Given the description of an element on the screen output the (x, y) to click on. 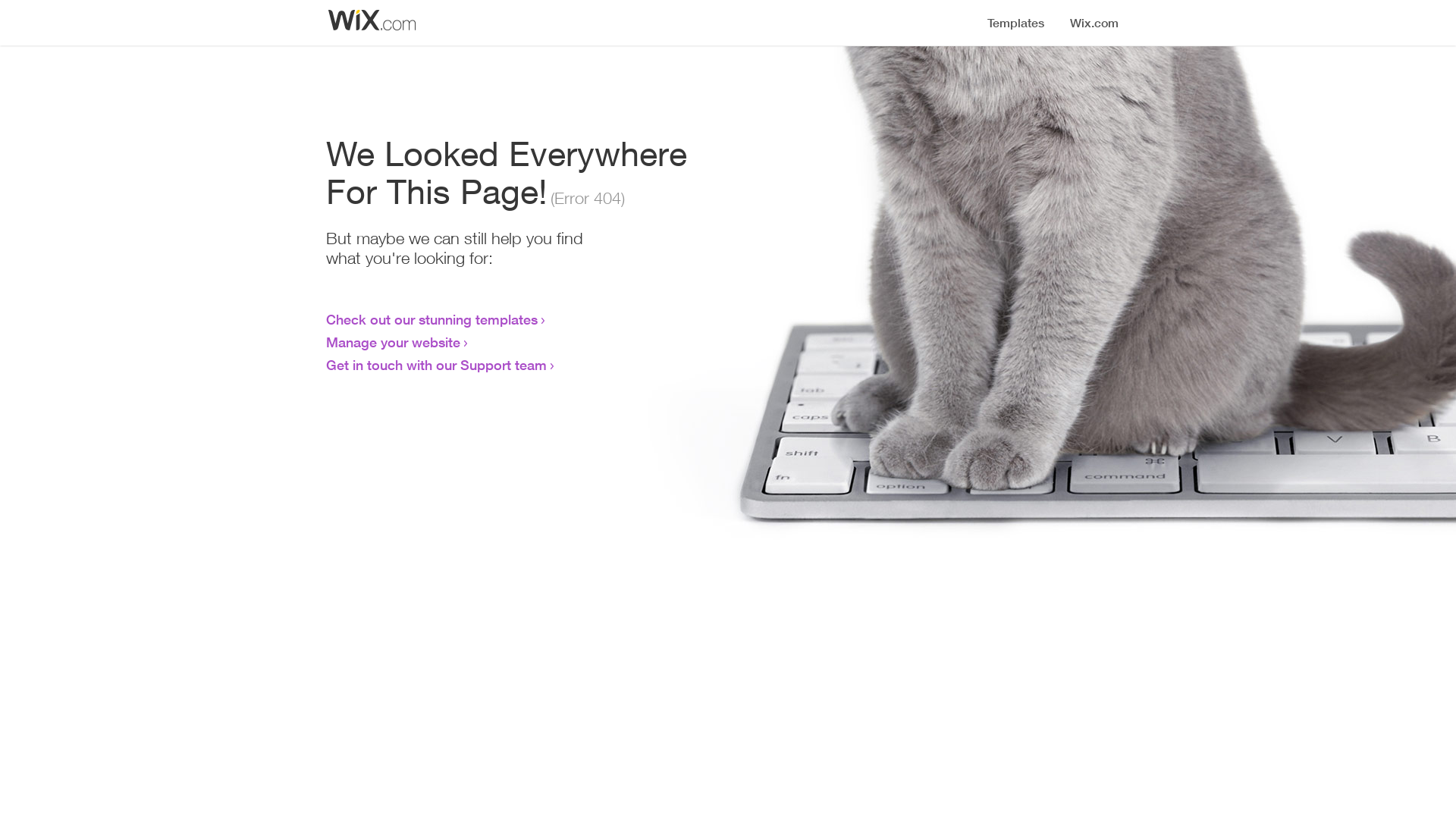
Manage your website Element type: text (393, 341)
Check out our stunning templates Element type: text (431, 318)
Get in touch with our Support team Element type: text (436, 364)
